Given the description of an element on the screen output the (x, y) to click on. 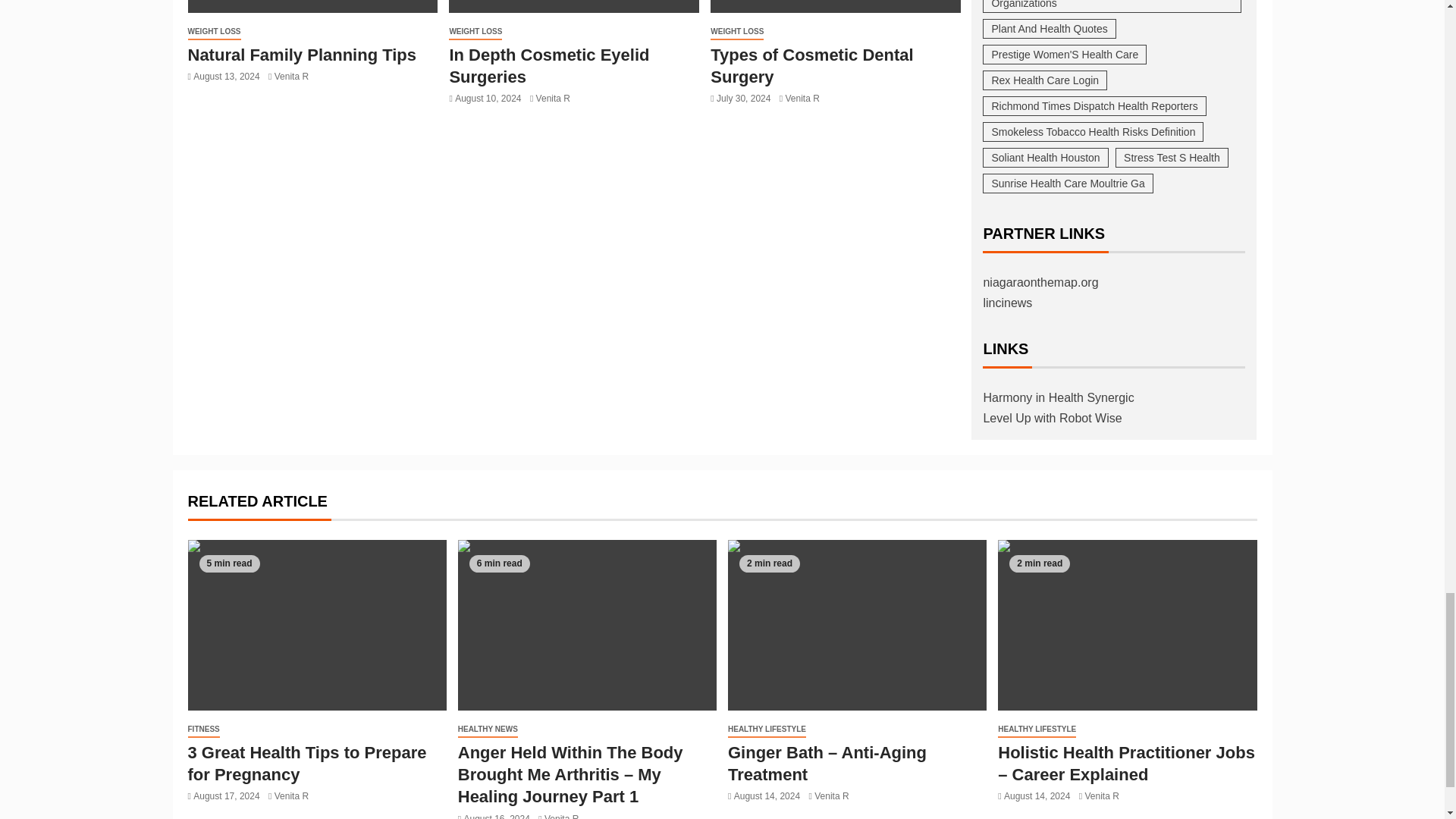
In Depth Cosmetic Eyelid Surgeries (573, 6)
Types of Cosmetic Dental Surgery (835, 6)
Natural Family Planning Tips (312, 6)
